Given the description of an element on the screen output the (x, y) to click on. 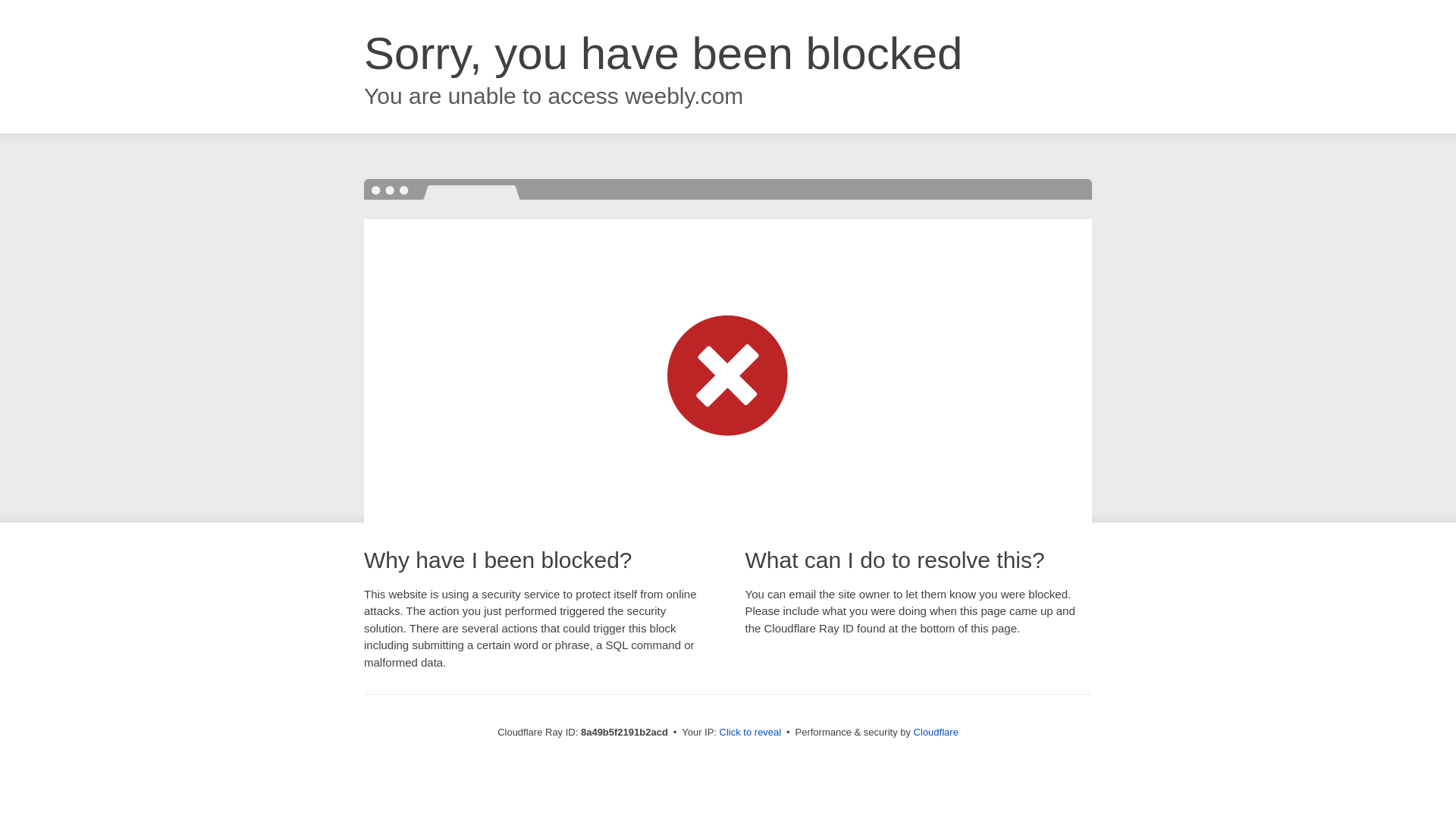
Click to reveal (750, 732)
Cloudflare (936, 731)
